Given the description of an element on the screen output the (x, y) to click on. 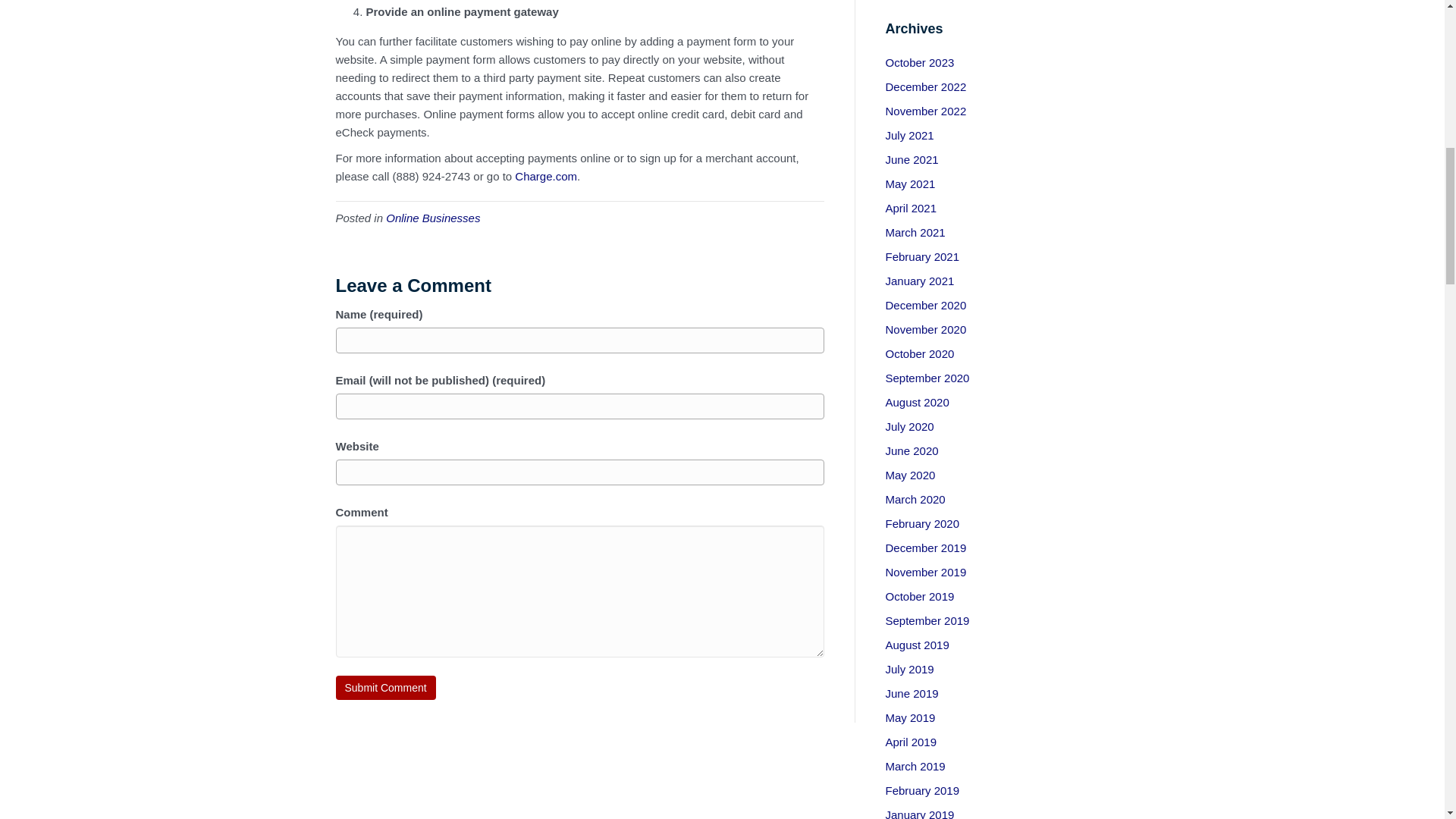
Submit Comment (384, 687)
Online Businesses (432, 217)
Submit Comment (384, 687)
Charge.com (545, 175)
